Given the description of an element on the screen output the (x, y) to click on. 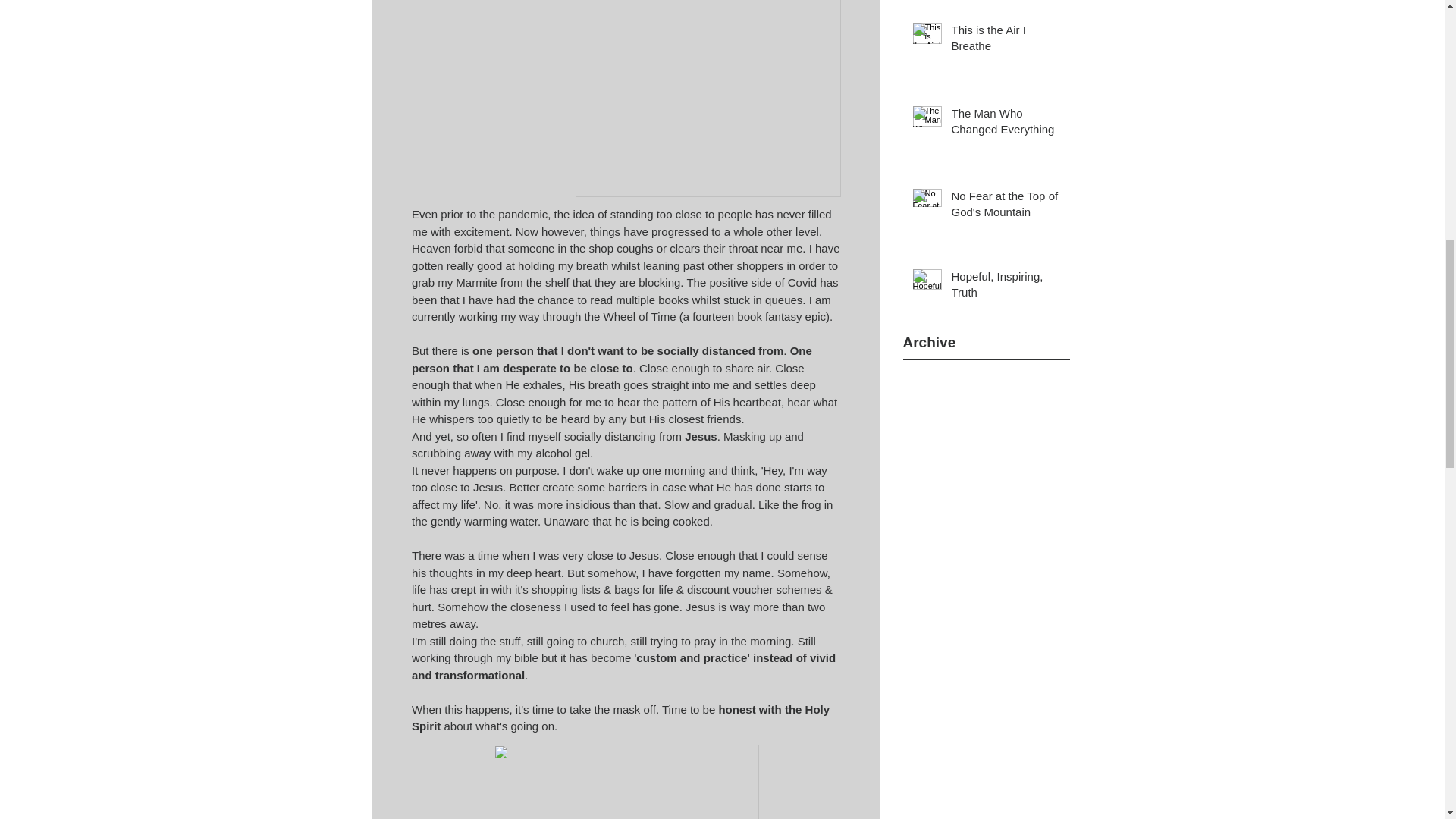
No Fear at the Top of God's Mountain (1004, 207)
Hopeful, Inspiring, Truth (1004, 287)
This is the Air I Breathe (1004, 40)
The Man Who Changed Everything (1004, 124)
